Given the description of an element on the screen output the (x, y) to click on. 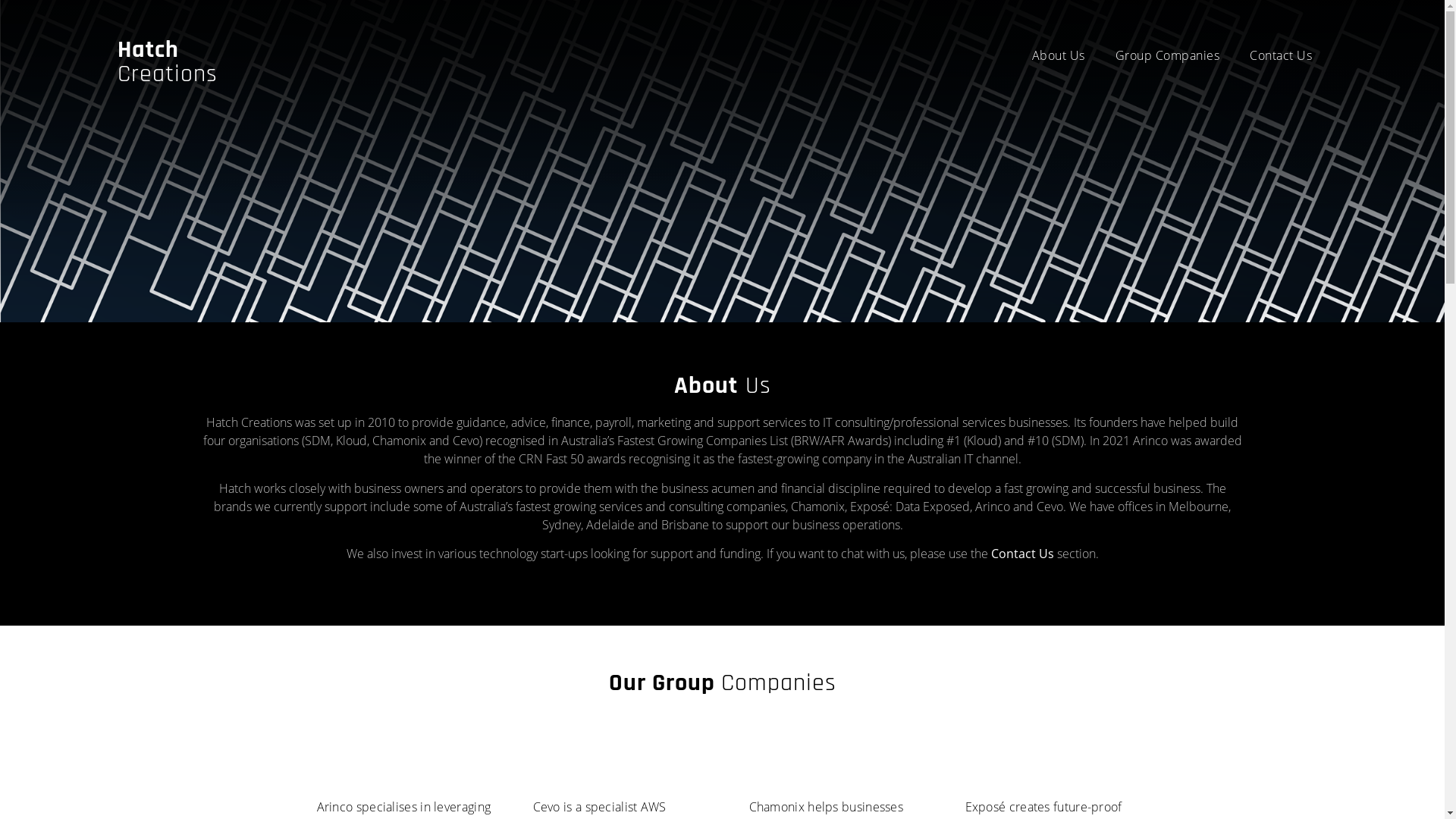
About Us Element type: text (1057, 54)
Contact Us Element type: text (1280, 54)
Group Companies Element type: text (1166, 54)
